Given the description of an element on the screen output the (x, y) to click on. 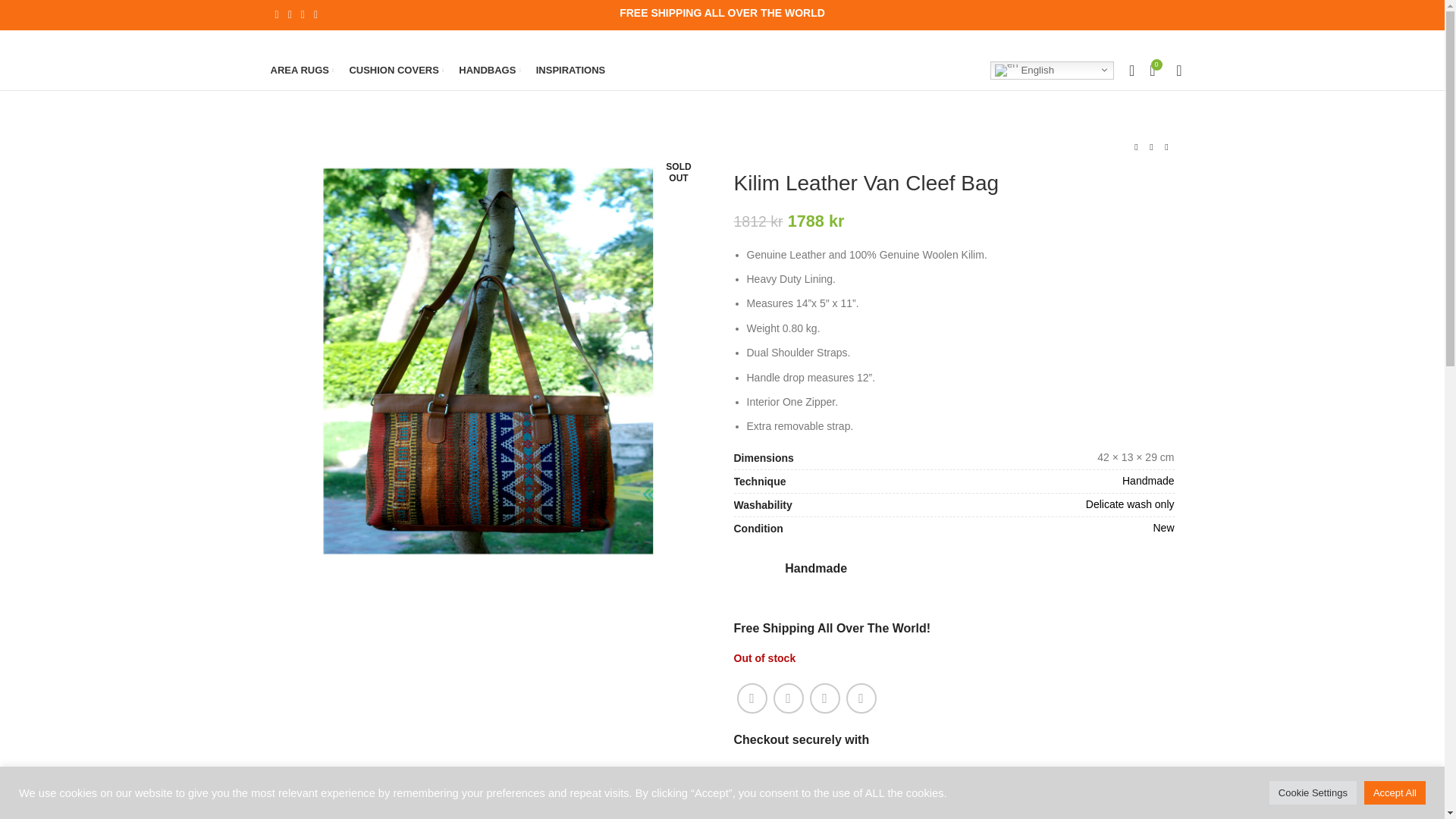
HANDBAGS (489, 69)
CUSHION COVERS (396, 69)
AREA RUGS (301, 69)
INSPIRATIONS (570, 69)
